Given the description of an element on the screen output the (x, y) to click on. 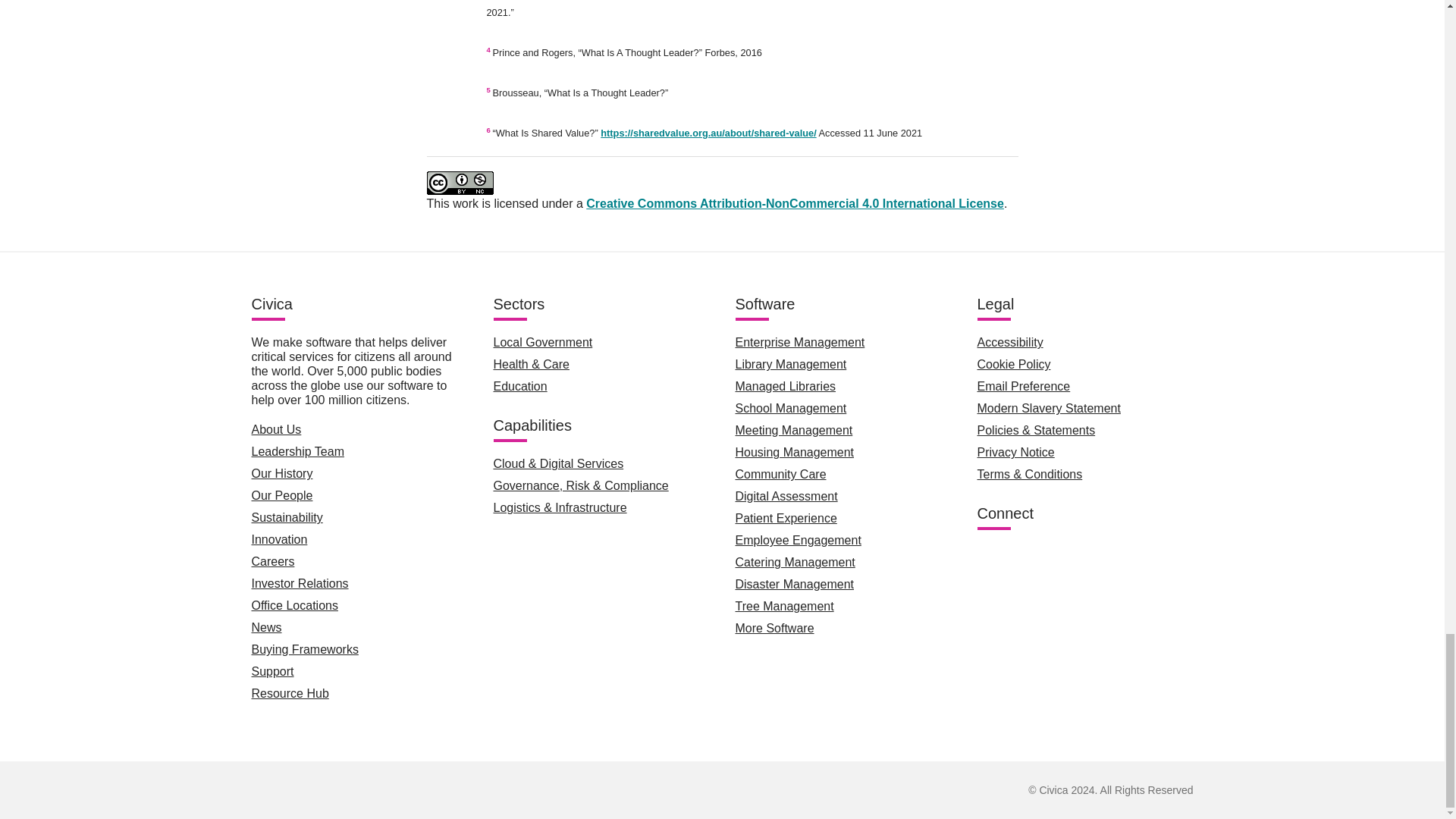
Investor Relations (300, 583)
Our History (282, 472)
Innovation (279, 539)
Careers (273, 561)
Sustainability (287, 517)
Education (520, 386)
Enterprise Management (799, 341)
Resource Hub (290, 693)
Our People (282, 495)
News (266, 626)
